Given the description of an element on the screen output the (x, y) to click on. 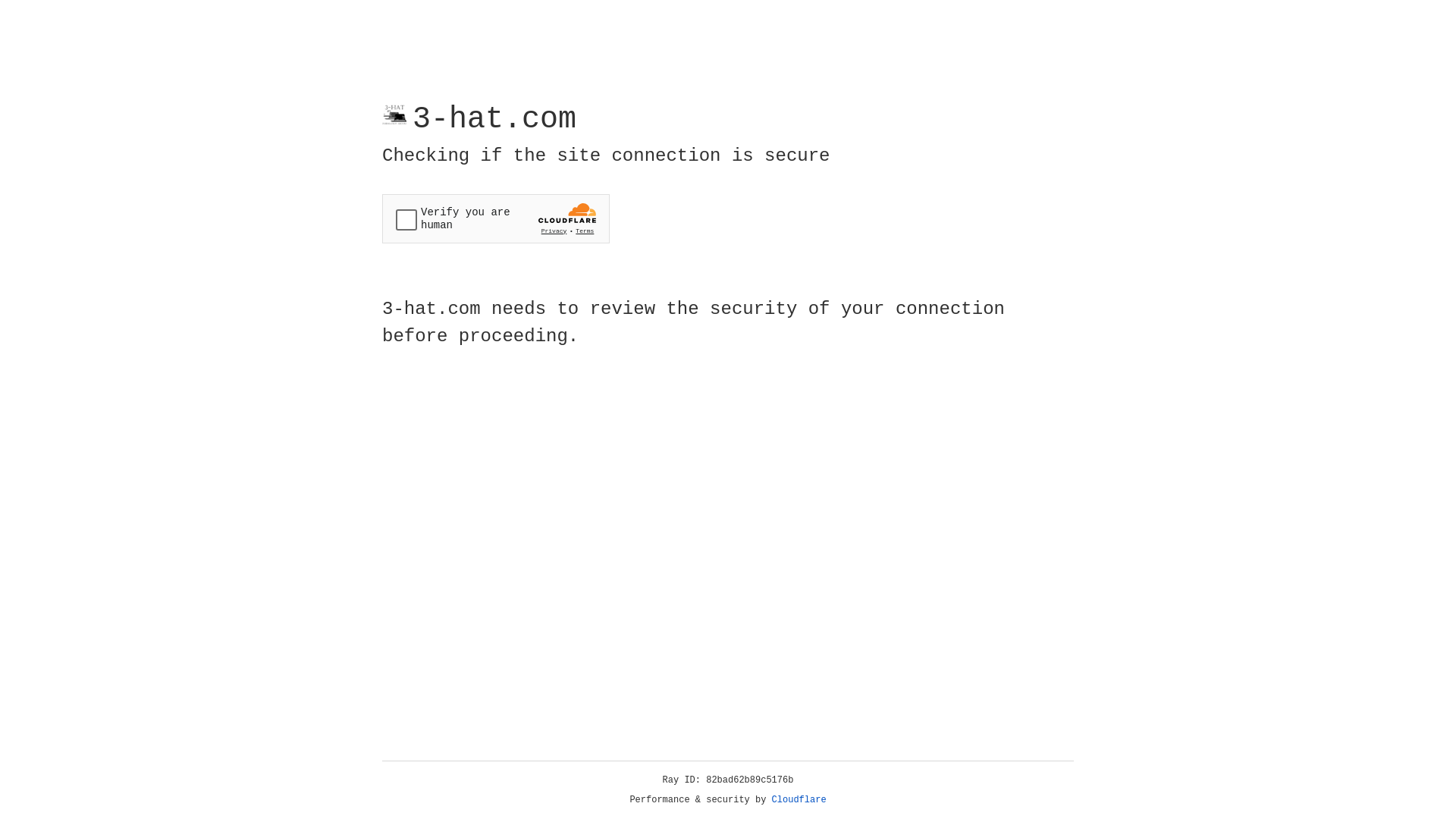
Widget containing a Cloudflare security challenge Element type: hover (495, 218)
Cloudflare Element type: text (798, 799)
